Given the description of an element on the screen output the (x, y) to click on. 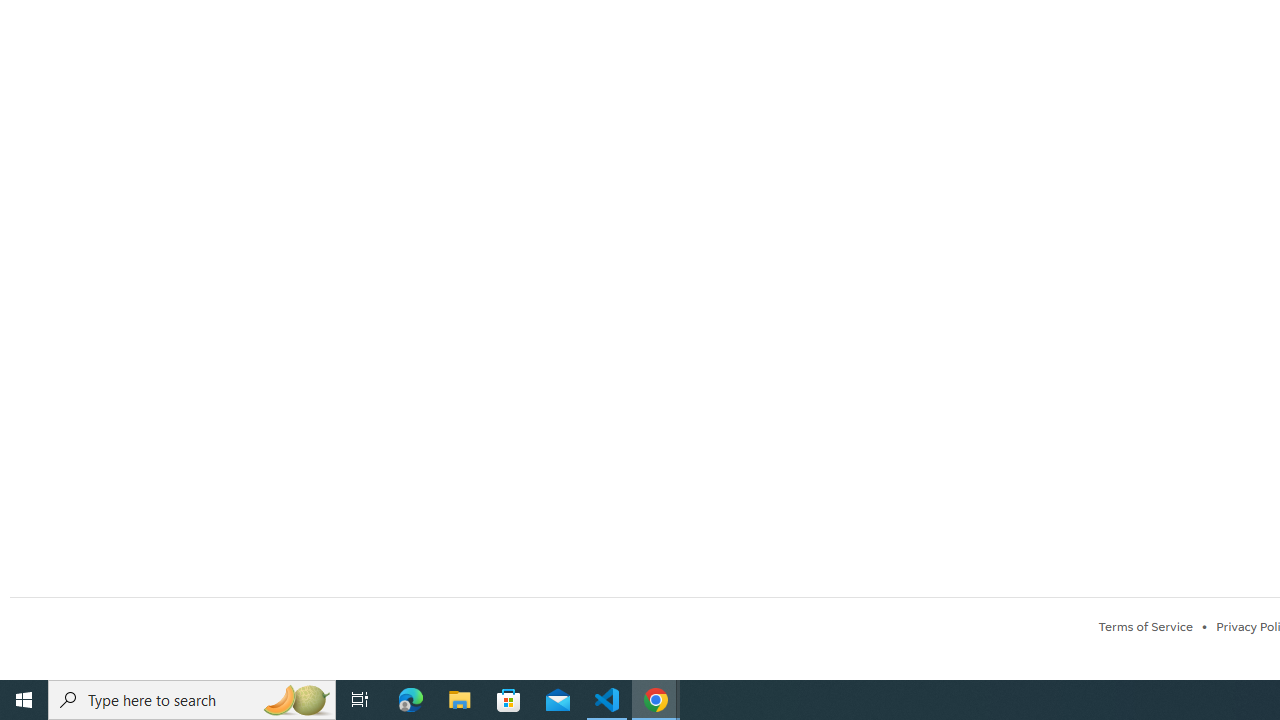
Terms of Service (1145, 626)
